Given the description of an element on the screen output the (x, y) to click on. 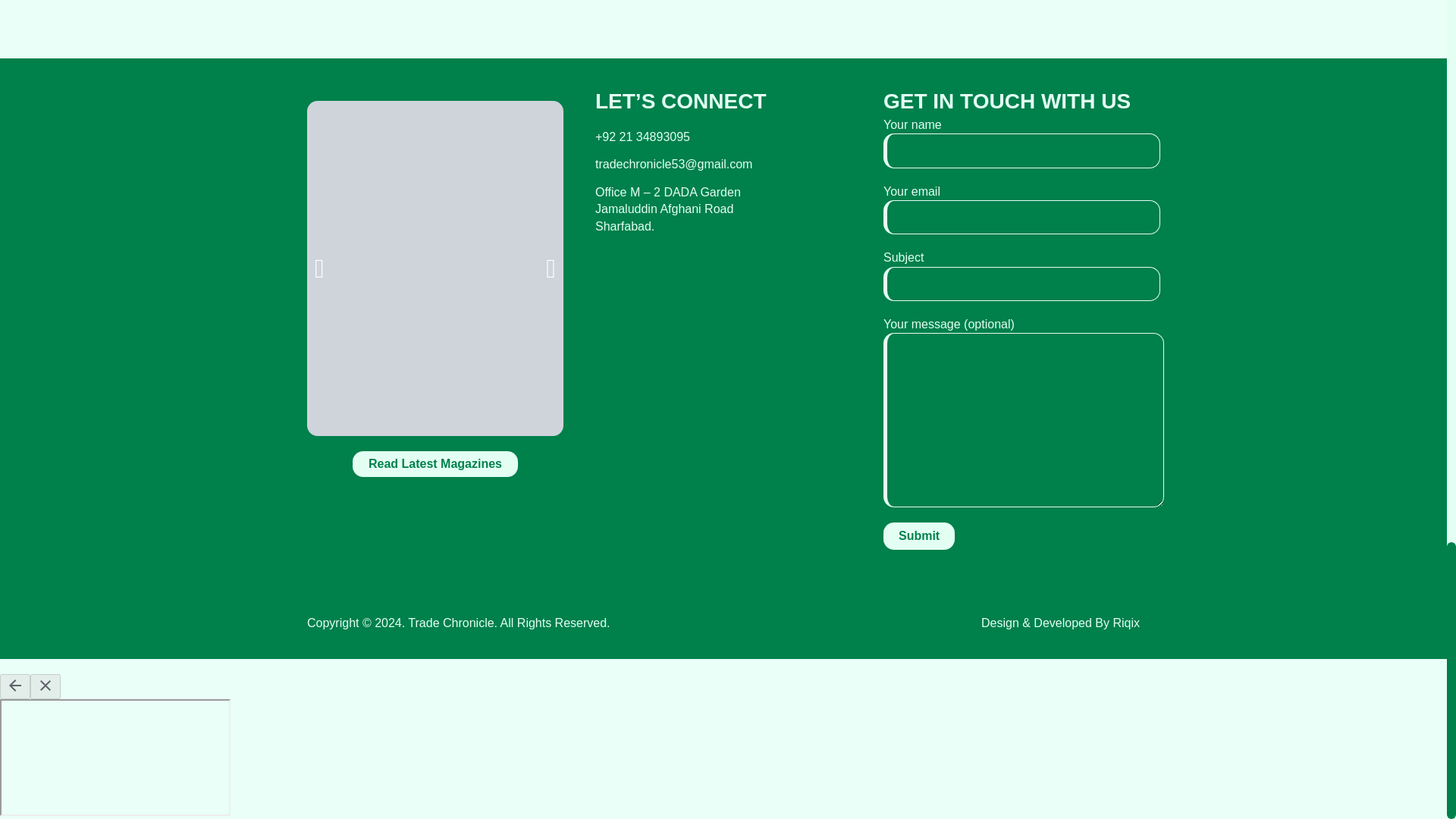
Submit (919, 535)
